Given the description of an element on the screen output the (x, y) to click on. 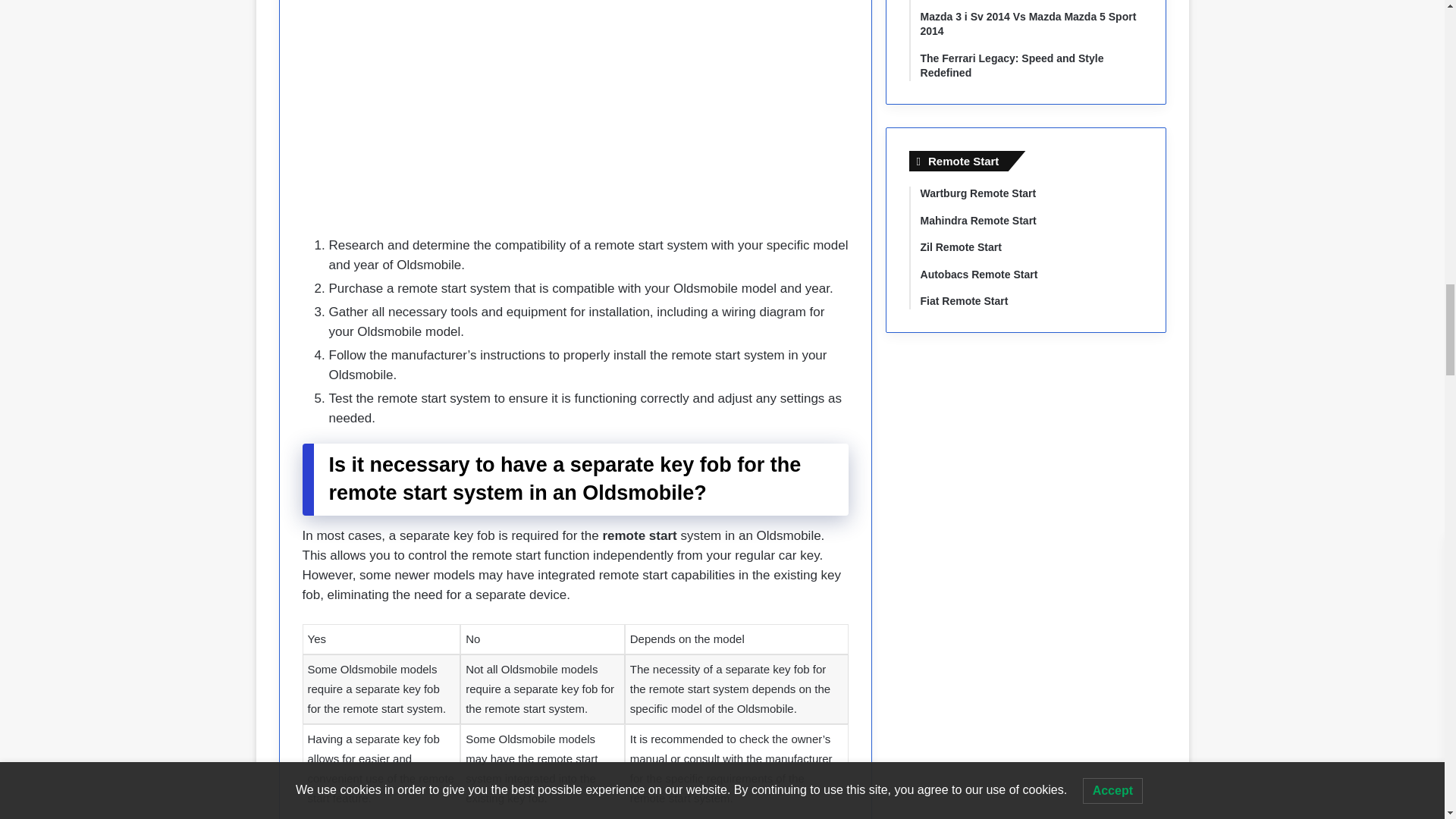
Advertisement (574, 123)
